Given the description of an element on the screen output the (x, y) to click on. 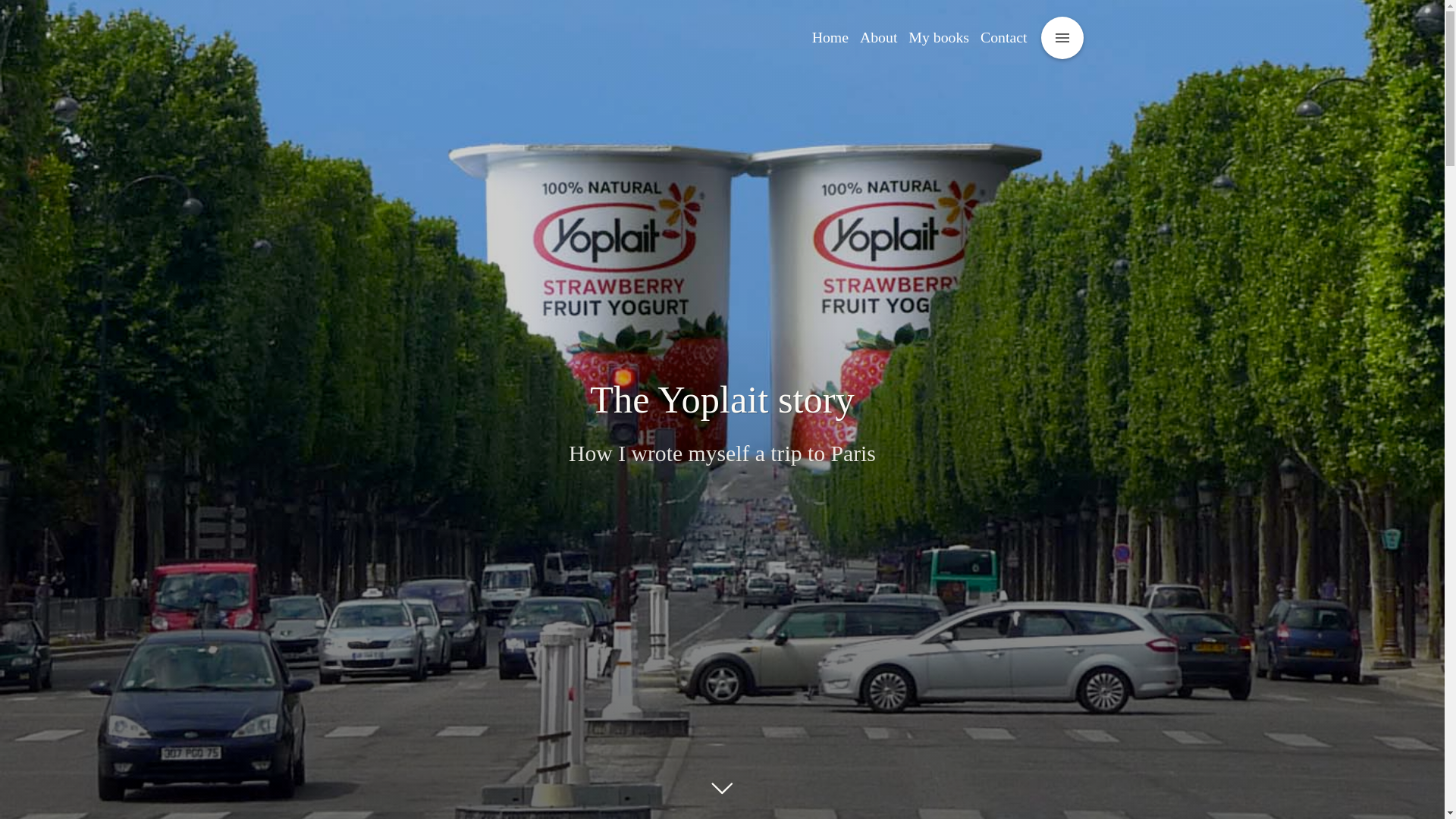
The Yoplait story
How I wrote myself a trip to Paris Element type: text (721, 421)
My books Element type: text (938, 36)
menu Element type: text (1061, 37)
Home Element type: text (830, 36)
Contact Element type: text (1003, 36)
About Element type: text (878, 36)
Search Element type: text (25, 9)
